Given the description of an element on the screen output the (x, y) to click on. 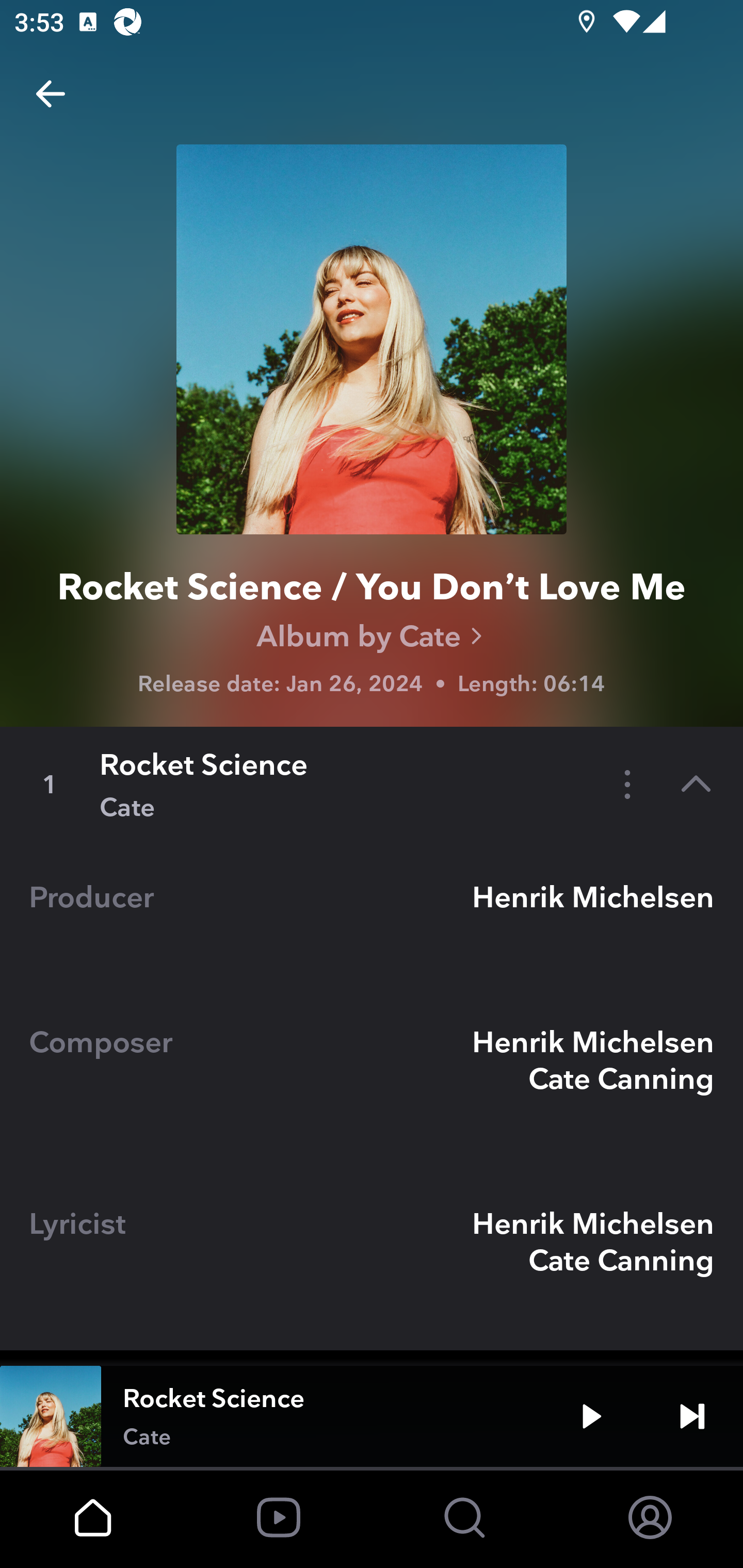
Back (50, 93)
Rocket Science / You Don’t Love Me (371, 589)
Album by Cate (371, 636)
1 Rocket Science Cate (371, 783)
Producer Henrik Michelsen
 (371, 914)
Composer Henrik Michelsen
Cate Canning
 (371, 1077)
Lyricist Henrik Michelsen
Cate Canning
 (371, 1259)
Rocket Science Cate Play (371, 1416)
Play (590, 1416)
